Given the description of an element on the screen output the (x, y) to click on. 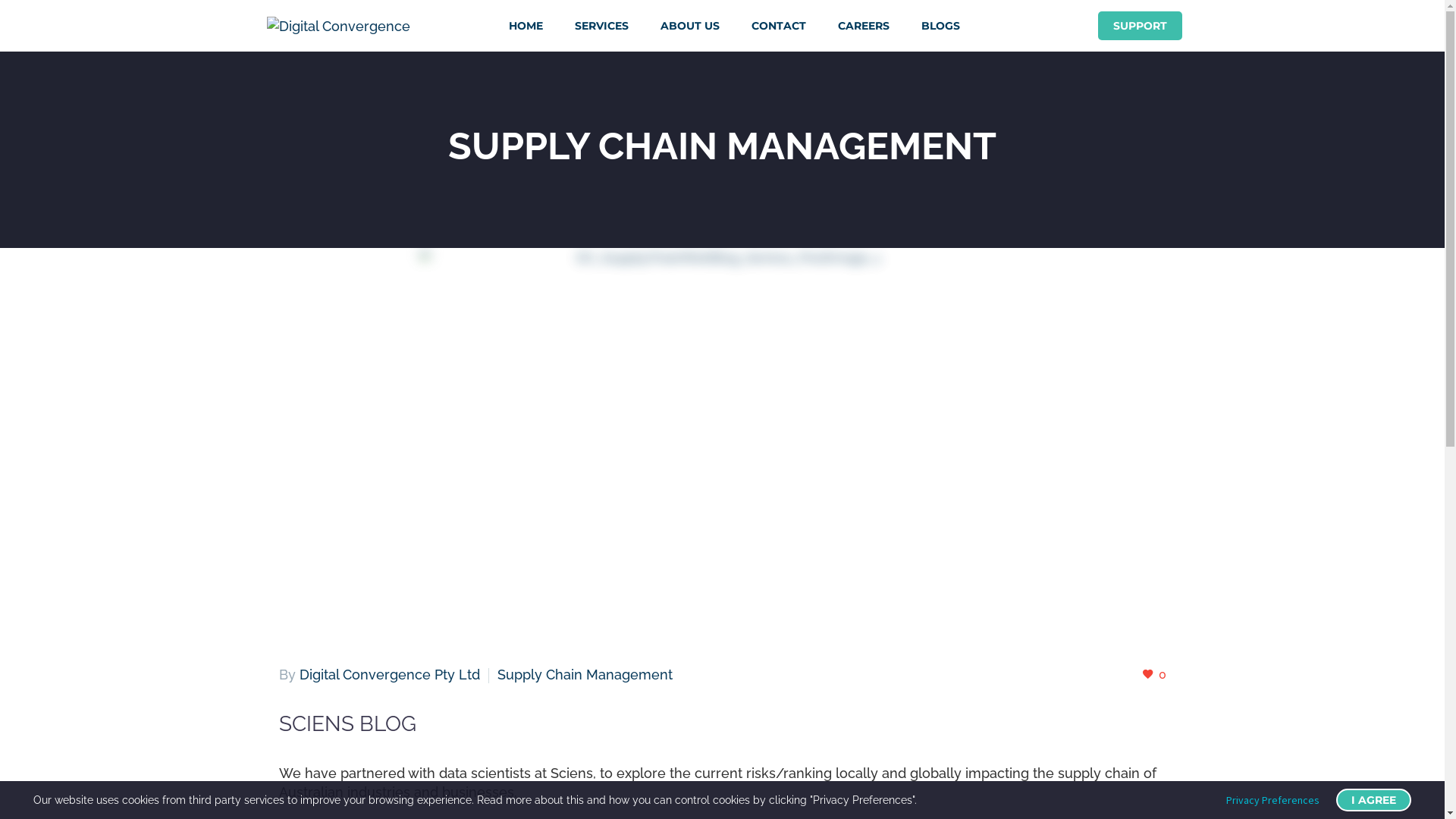
Privacy Preferences Element type: text (1272, 799)
ABOUT US Element type: text (689, 26)
CAREERS Element type: text (862, 26)
SERVICES Element type: text (601, 26)
Digital Convergence Pty Ltd Element type: text (388, 674)
SUPPORT Element type: text (1140, 25)
CONTACT Element type: text (777, 26)
HOME Element type: text (524, 26)
BLOGS Element type: text (939, 26)
Supply Chain Management Element type: text (584, 674)
I AGREE Element type: text (1373, 799)
0 Element type: text (1154, 674)
SCIENS BLOG Element type: text (347, 723)
